Given the description of an element on the screen output the (x, y) to click on. 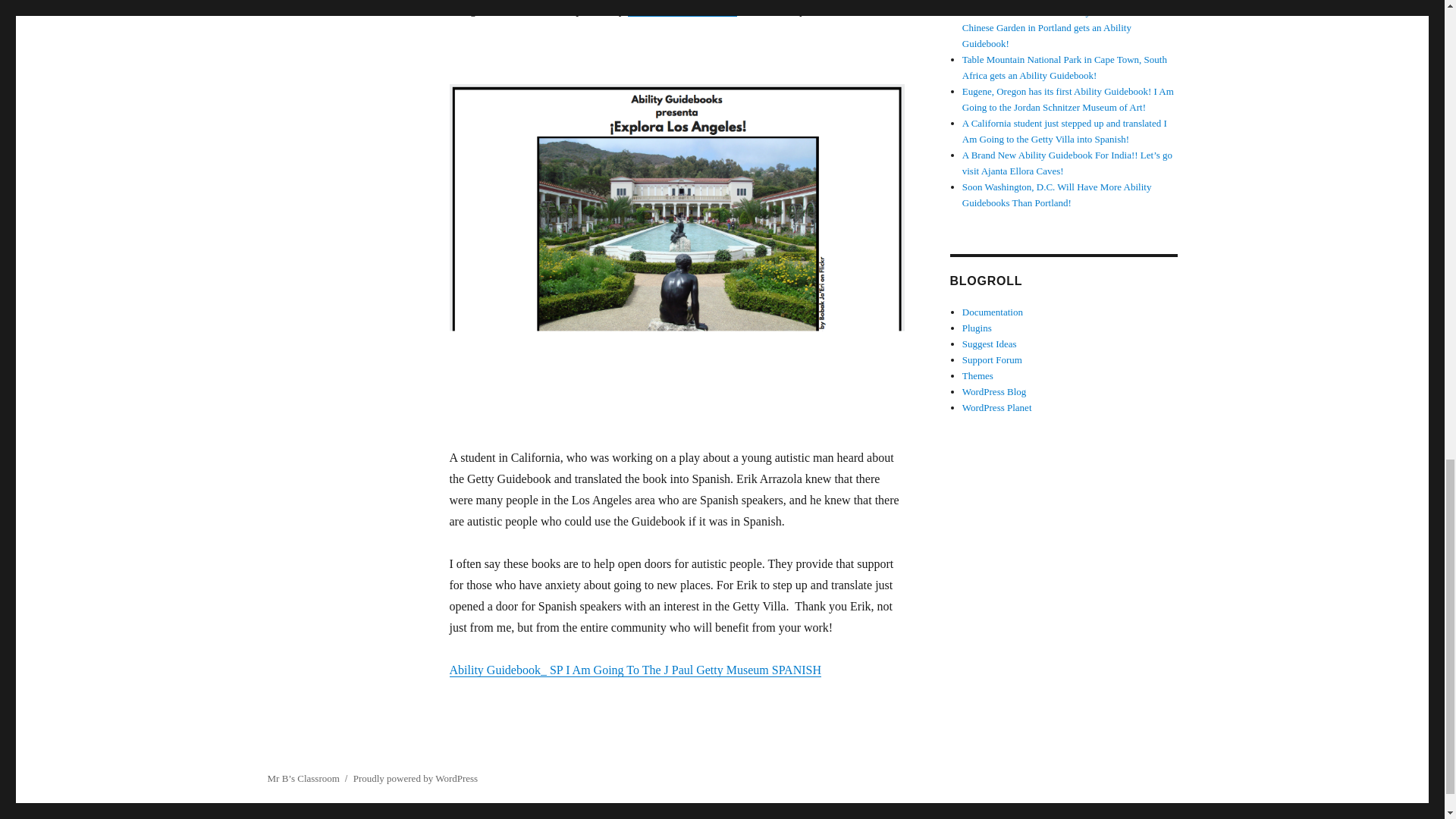
The Teaching Channel (681, 9)
WordPress Blog (994, 391)
Support Forum (992, 359)
Plugins (976, 327)
Documentation (992, 311)
Suggest Ideas (989, 343)
WordPress Planet (997, 407)
Themes (977, 375)
